Given the description of an element on the screen output the (x, y) to click on. 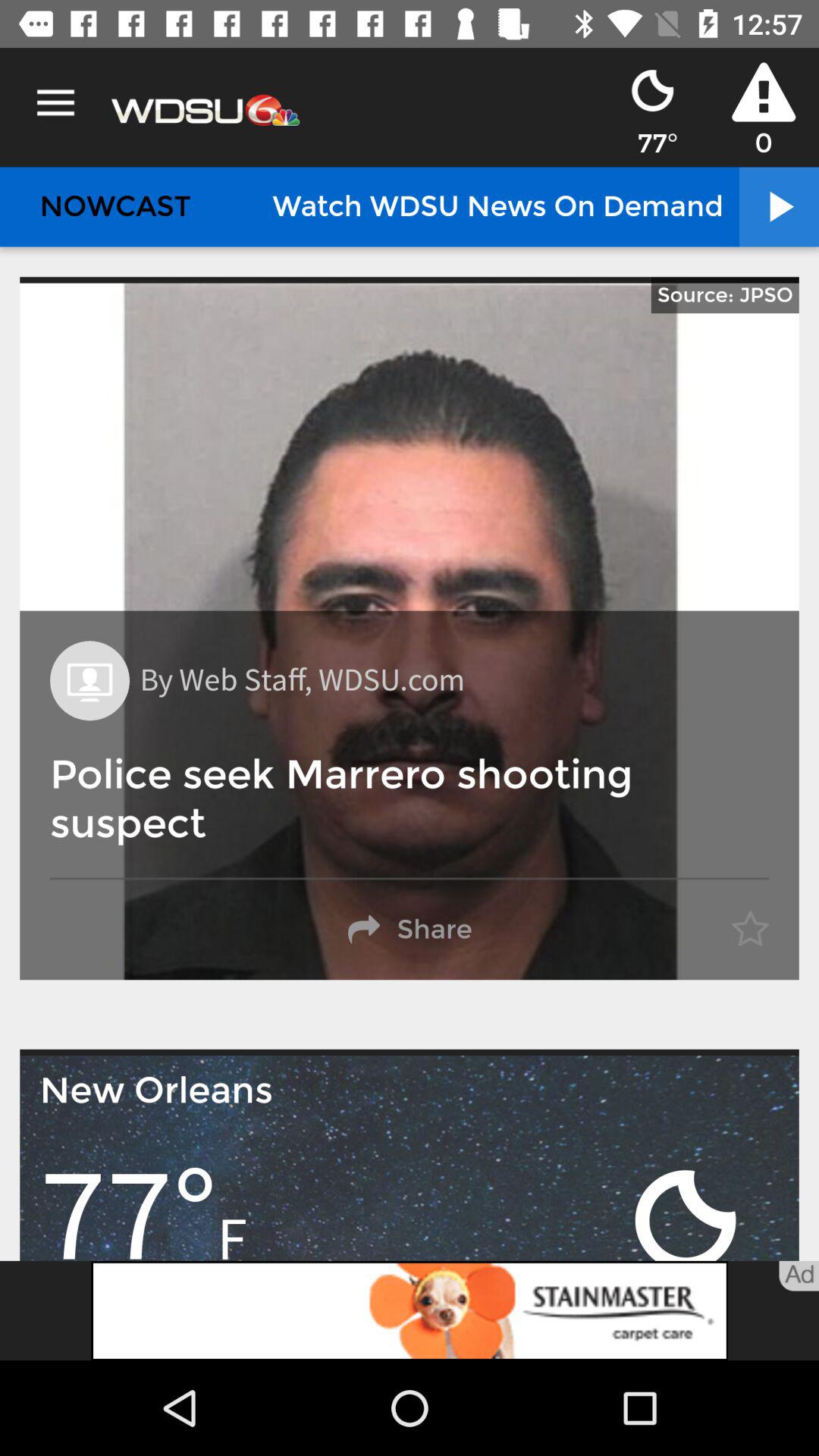
open the advertisement link (409, 1310)
